Given the description of an element on the screen output the (x, y) to click on. 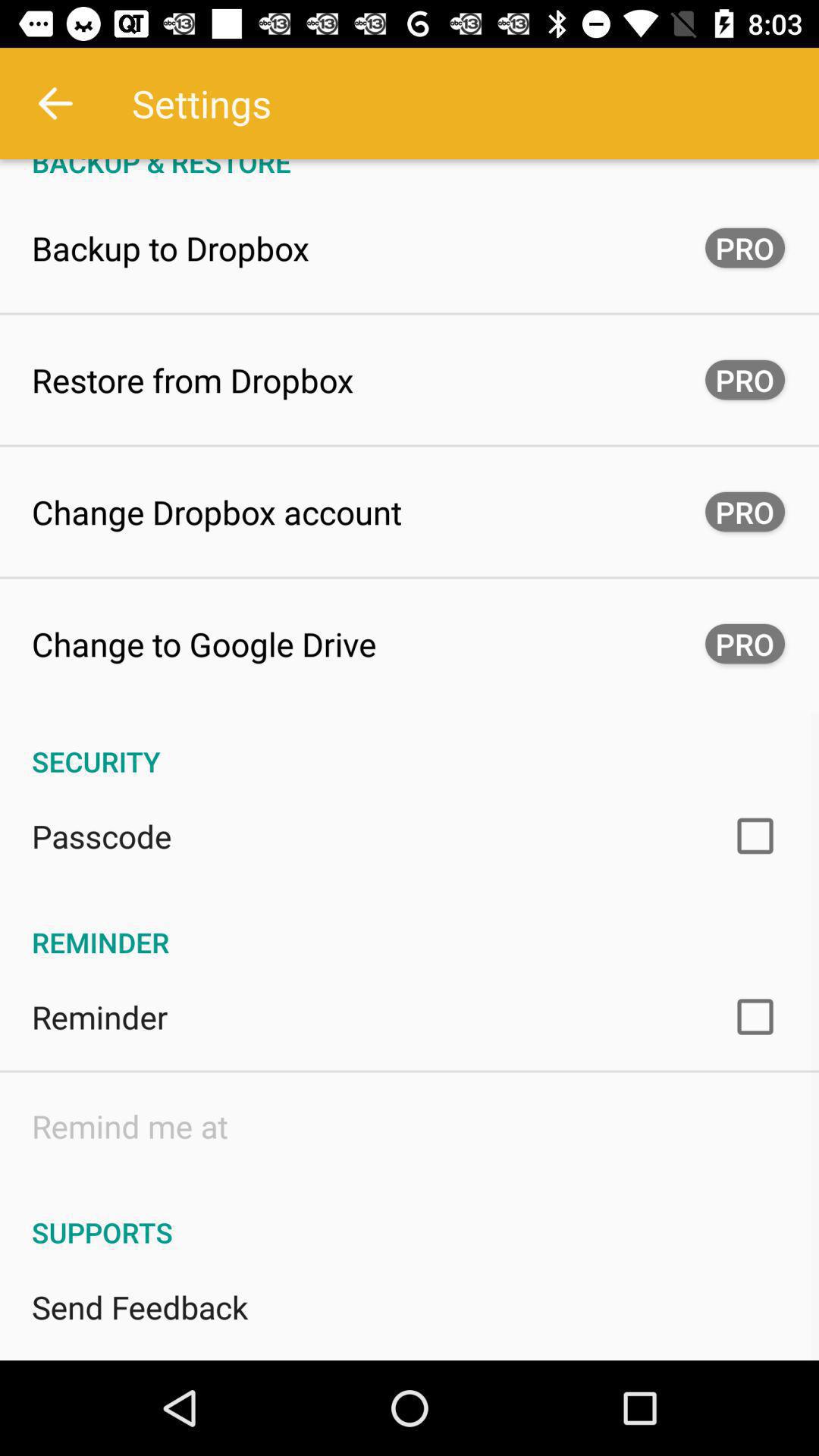
launch change to google (203, 643)
